Given the description of an element on the screen output the (x, y) to click on. 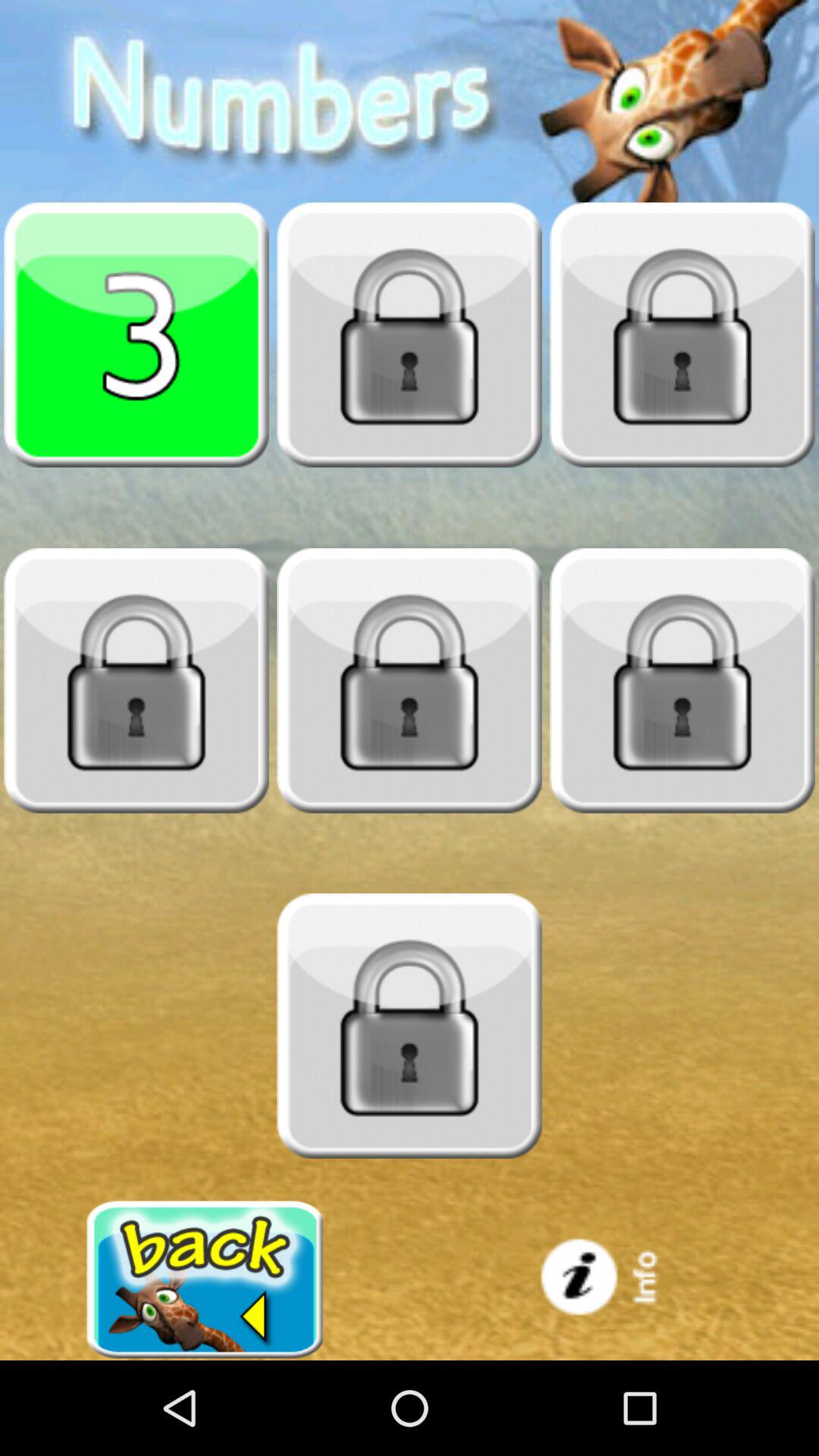
open the lock (409, 680)
